Given the description of an element on the screen output the (x, y) to click on. 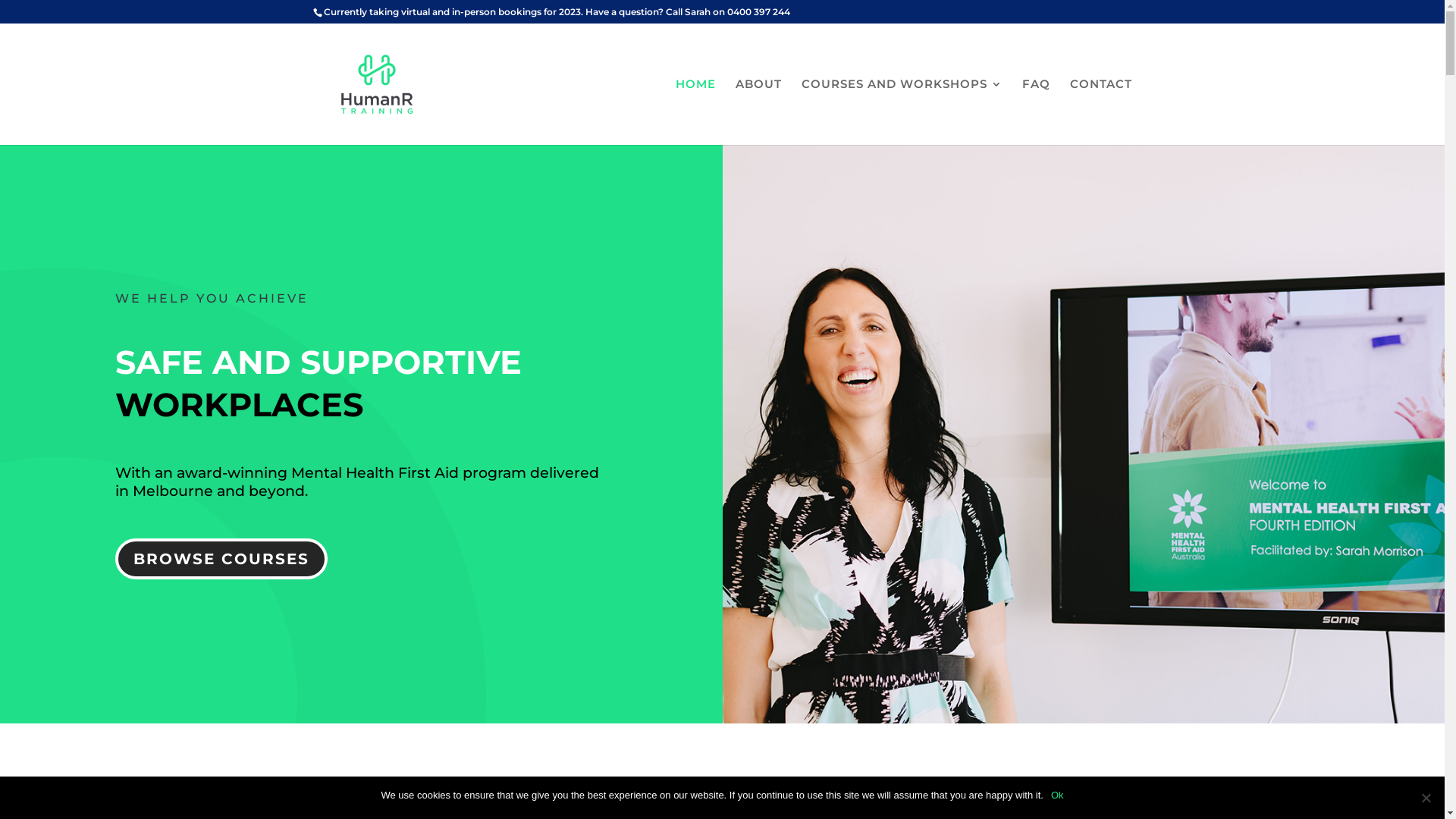
BROWSE COURSES Element type: text (221, 558)
CONTACT Element type: text (1100, 111)
ABOUT Element type: text (758, 111)
No Element type: hover (1425, 797)
Ok Element type: text (1057, 795)
HOME Element type: text (694, 111)
COURSES AND WORKSHOPS Element type: text (900, 111)
FAQ Element type: text (1036, 111)
